Given the description of an element on the screen output the (x, y) to click on. 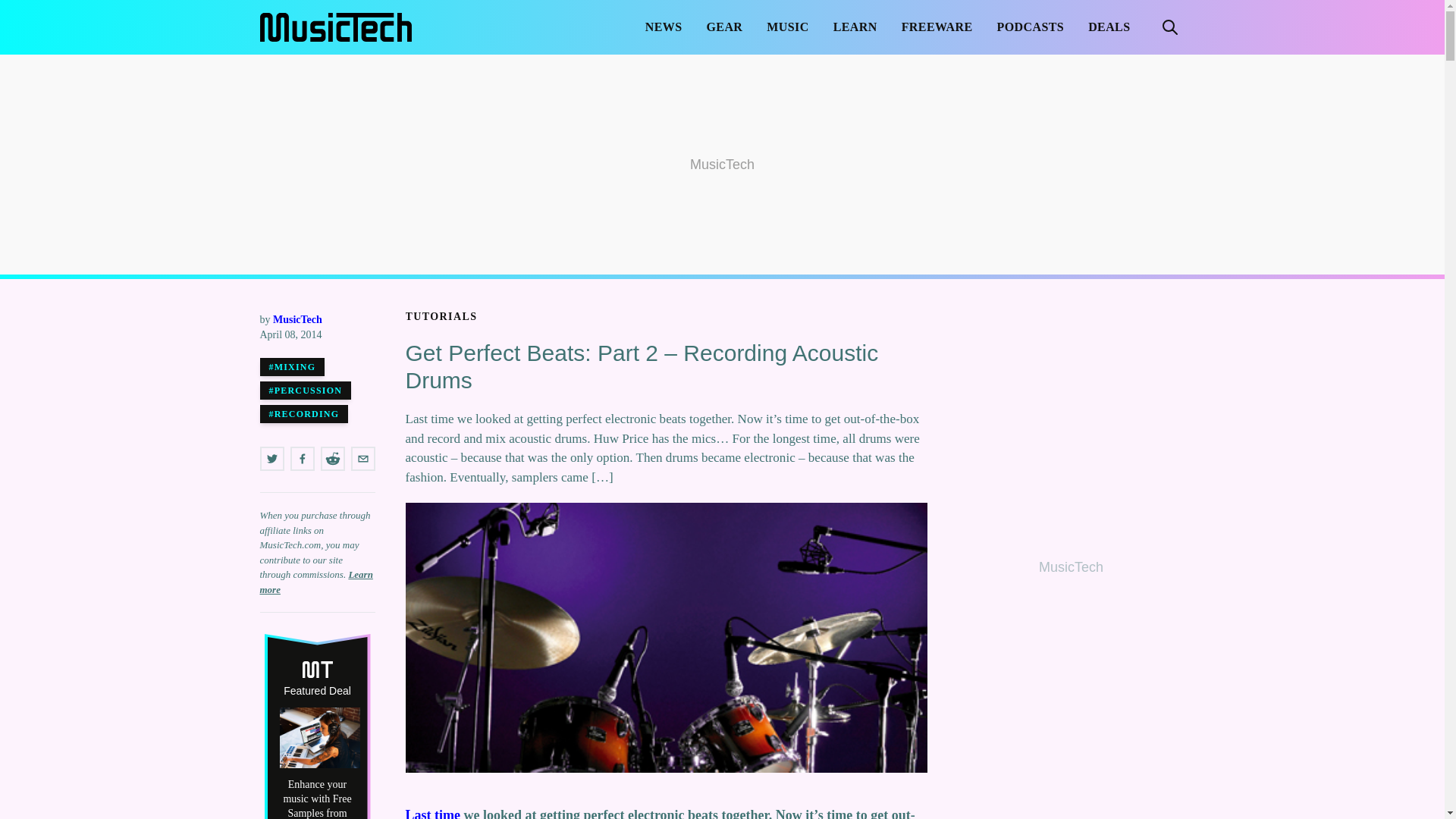
Recording (303, 413)
Published April 8, 2014 9:42AM (316, 335)
MusicTech (297, 319)
Percussion (304, 390)
DEALS (1108, 27)
FREEWARE (936, 27)
PODCASTS (1030, 27)
Learn more (315, 581)
TUTORIALS (440, 316)
MUSIC (786, 27)
MusicTech (334, 27)
Mixing (291, 366)
LEARN (855, 27)
Last time (432, 813)
Tutorials (440, 316)
